Given the description of an element on the screen output the (x, y) to click on. 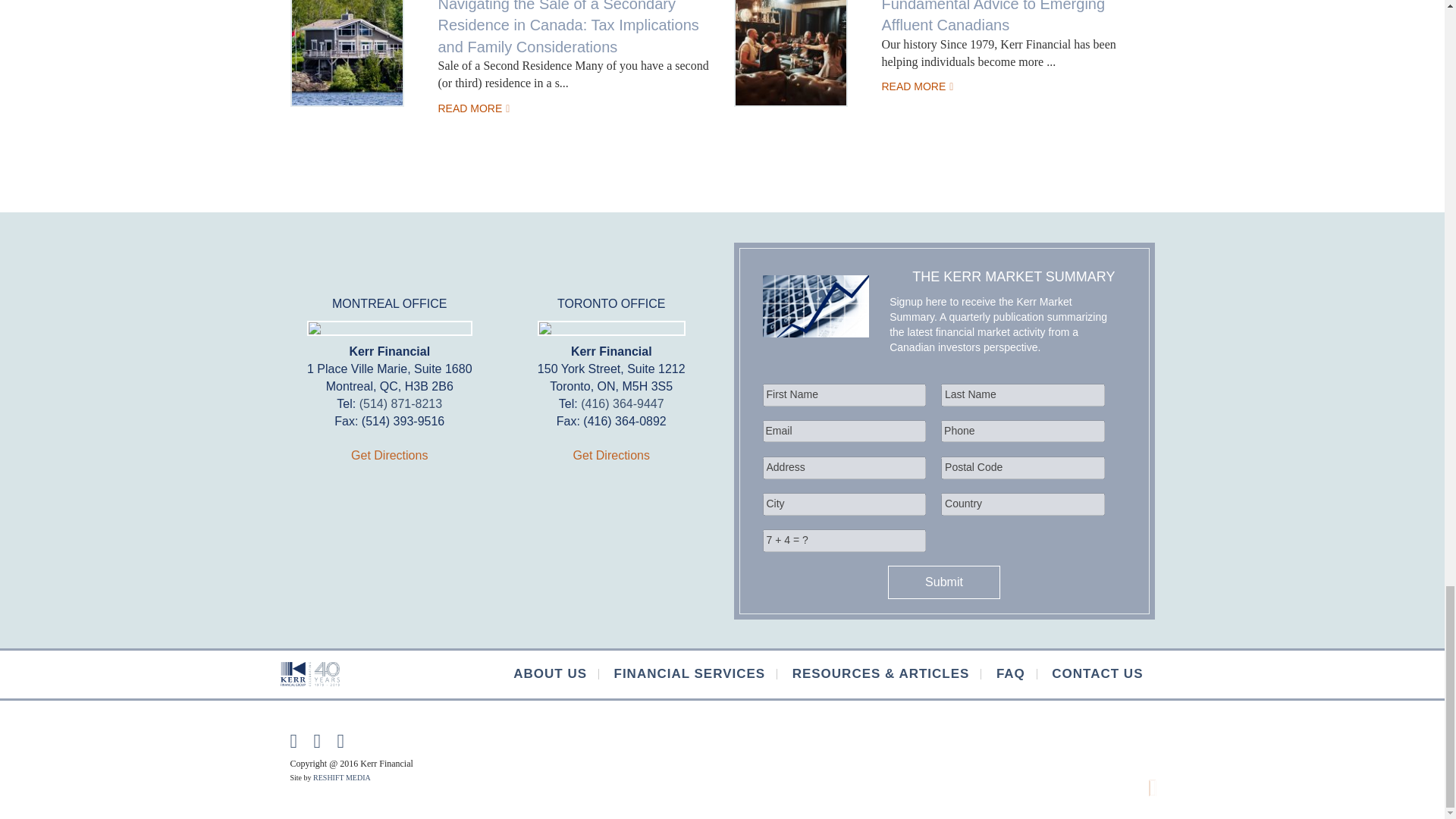
Submit (944, 581)
About Us (550, 674)
Financial Services (689, 674)
